Given the description of an element on the screen output the (x, y) to click on. 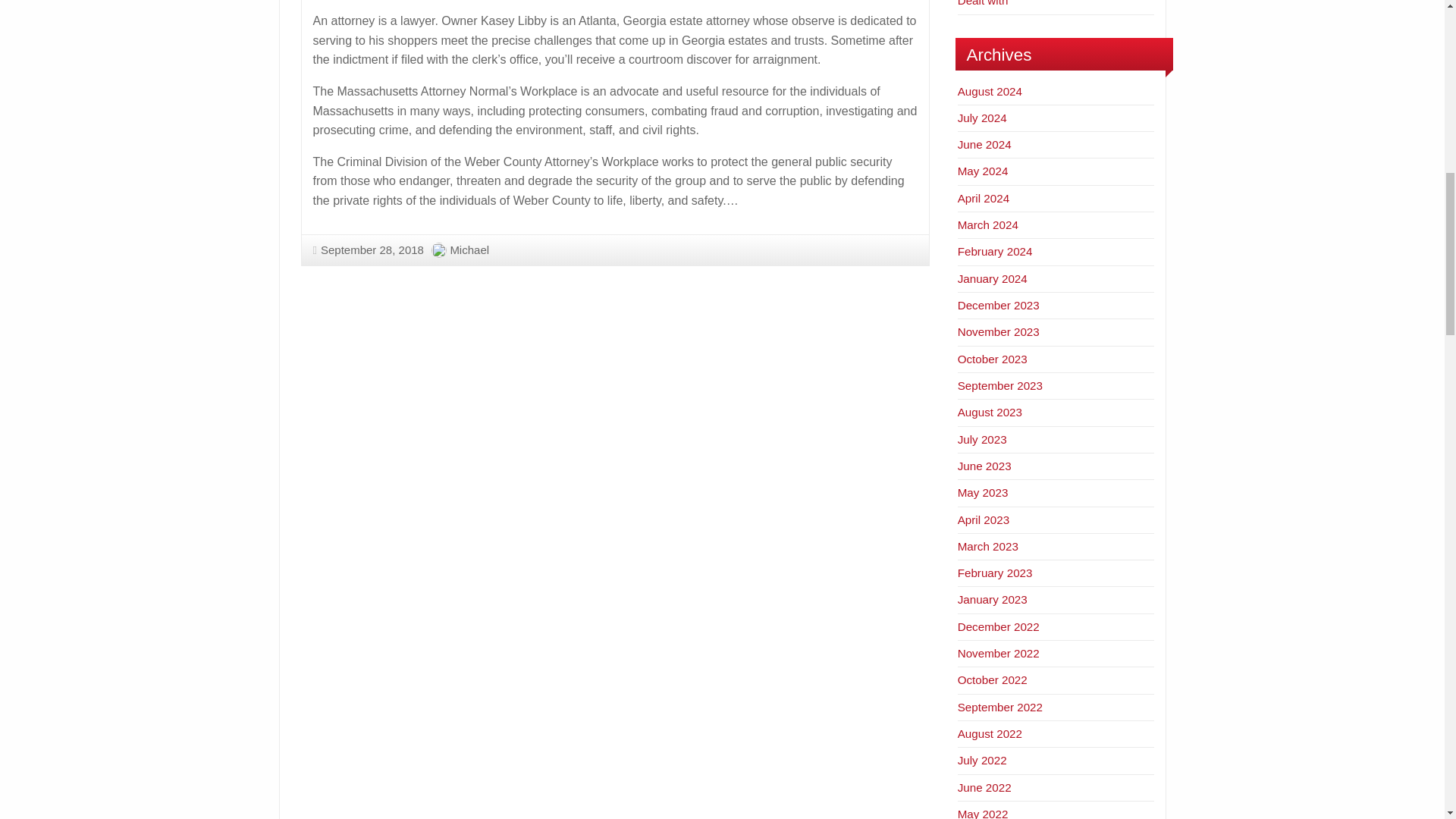
Revolutionizing The Way Divorces Are Dealt with (1055, 3)
June 2024 (984, 144)
Michael (469, 249)
April 2024 (983, 197)
May 2023 (983, 492)
July 2024 (982, 117)
February 2024 (995, 250)
September 28, 2018 (368, 249)
July 2023 (982, 439)
August 2024 (990, 91)
